Given the description of an element on the screen output the (x, y) to click on. 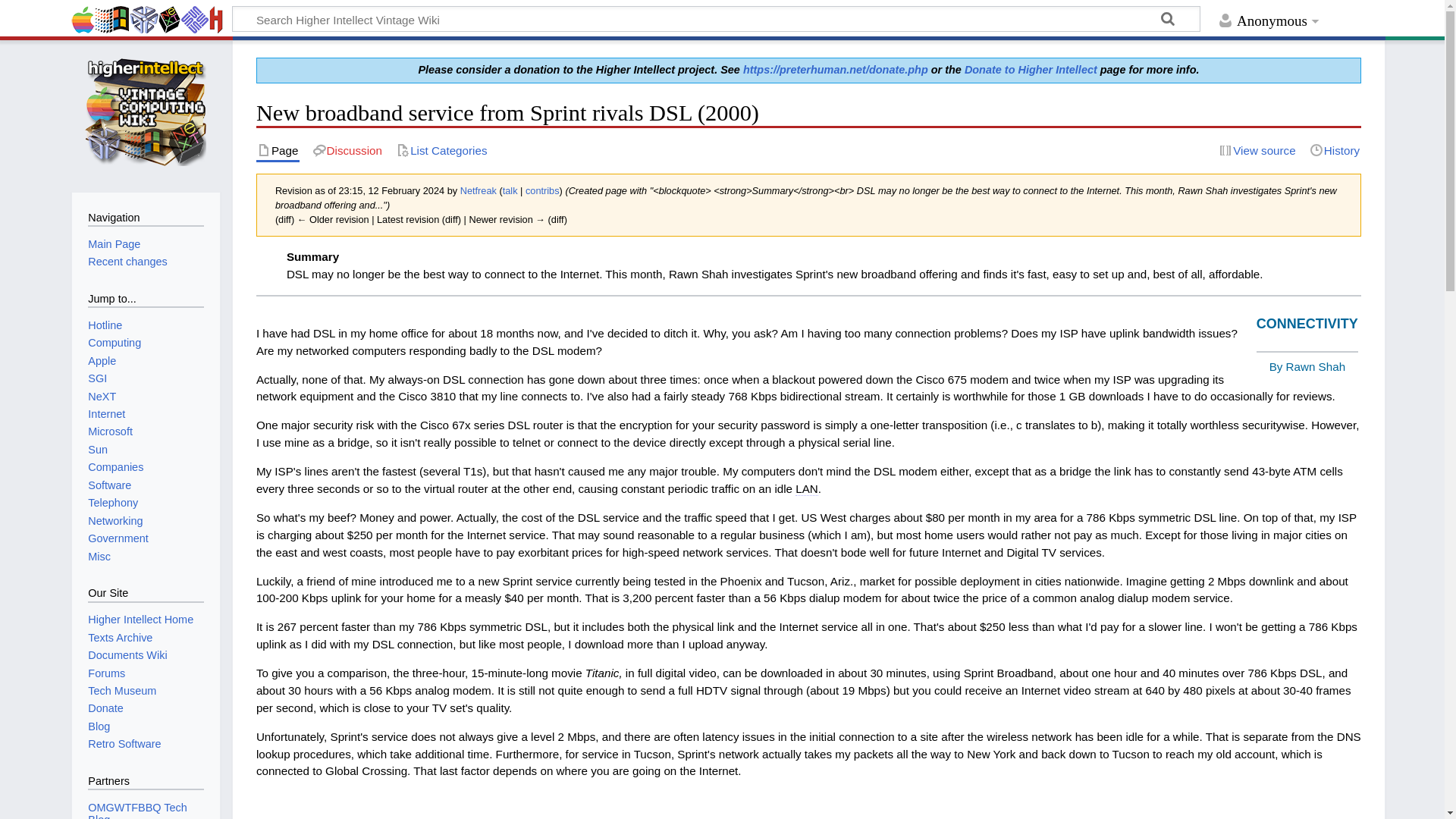
Recent changes (127, 261)
Advertisement (808, 805)
Search the pages for this text (1168, 21)
Texts Archive (119, 637)
talk (510, 190)
Misc (98, 556)
Microsoft (109, 431)
Sun (97, 449)
Search (1168, 21)
View source (1257, 150)
Hotline (104, 325)
User:Netfreak (478, 190)
Networking (114, 521)
Search (1168, 21)
Donate to Higher Intellect (1030, 69)
